Given the description of an element on the screen output the (x, y) to click on. 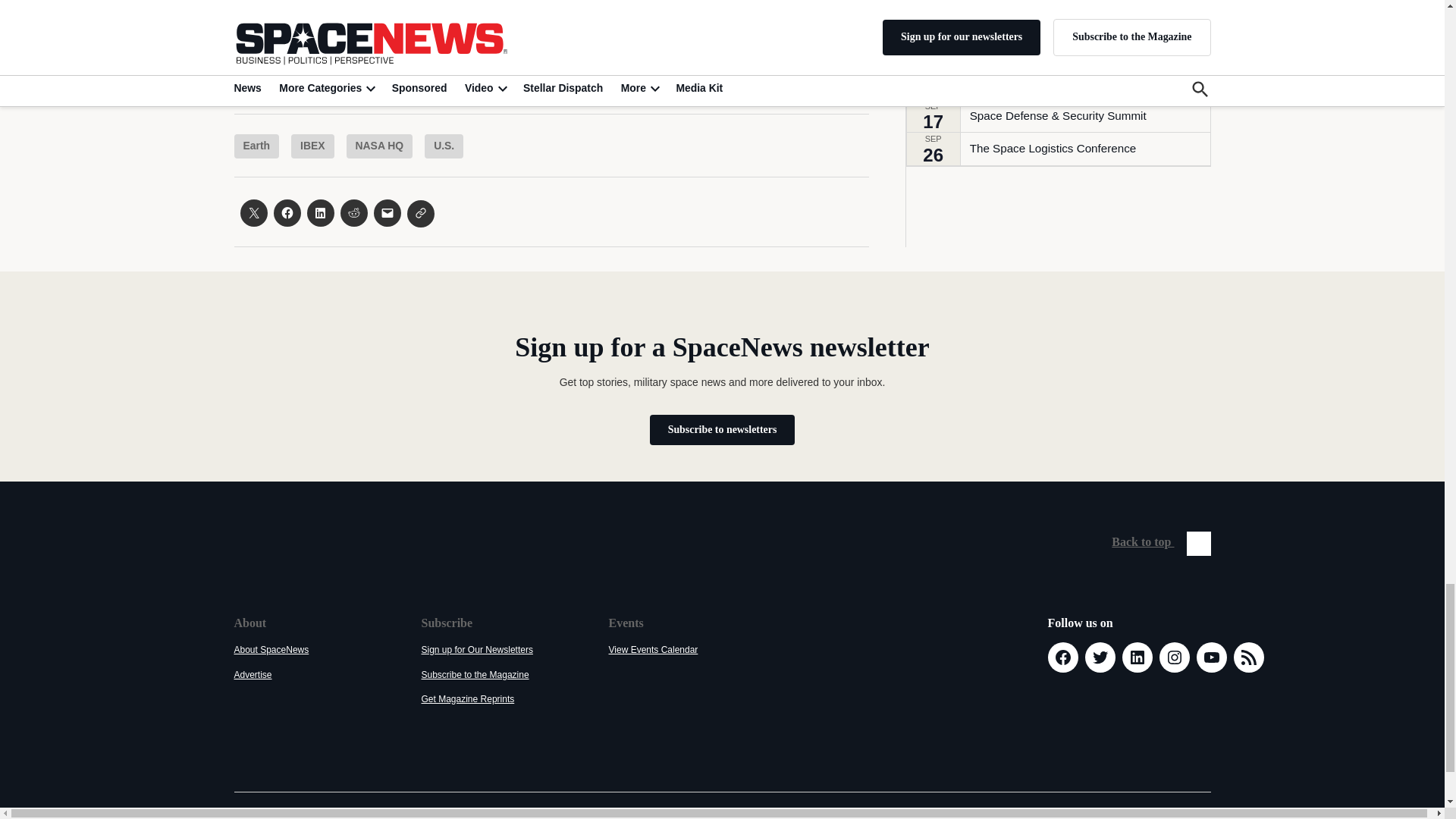
Click to share on X (253, 212)
Click to share on Clipboard (419, 213)
Click to share on LinkedIn (319, 212)
Click to email a link to a friend (386, 212)
Click to share on Reddit (352, 212)
Click to share on Facebook (286, 212)
